Given the description of an element on the screen output the (x, y) to click on. 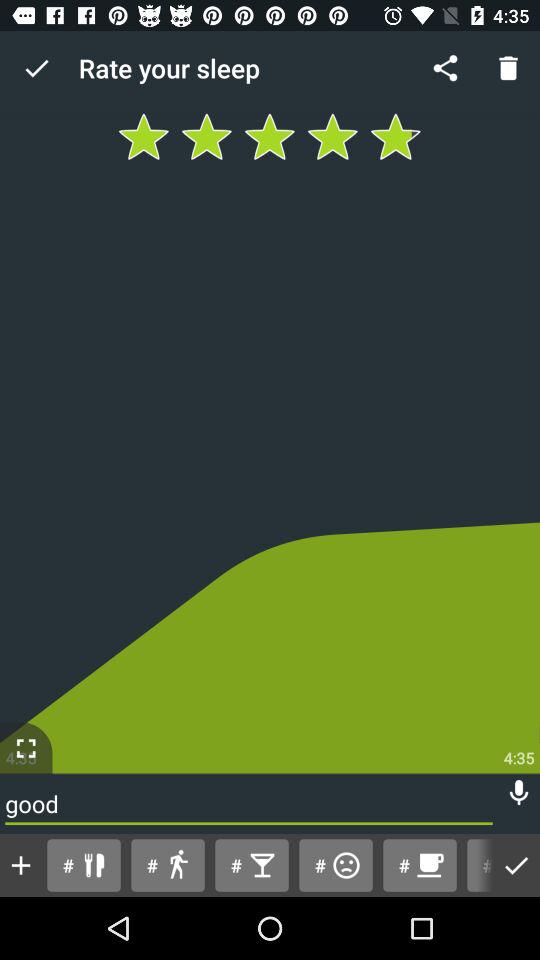
toggle mute and unmute option (519, 792)
